Given the description of an element on the screen output the (x, y) to click on. 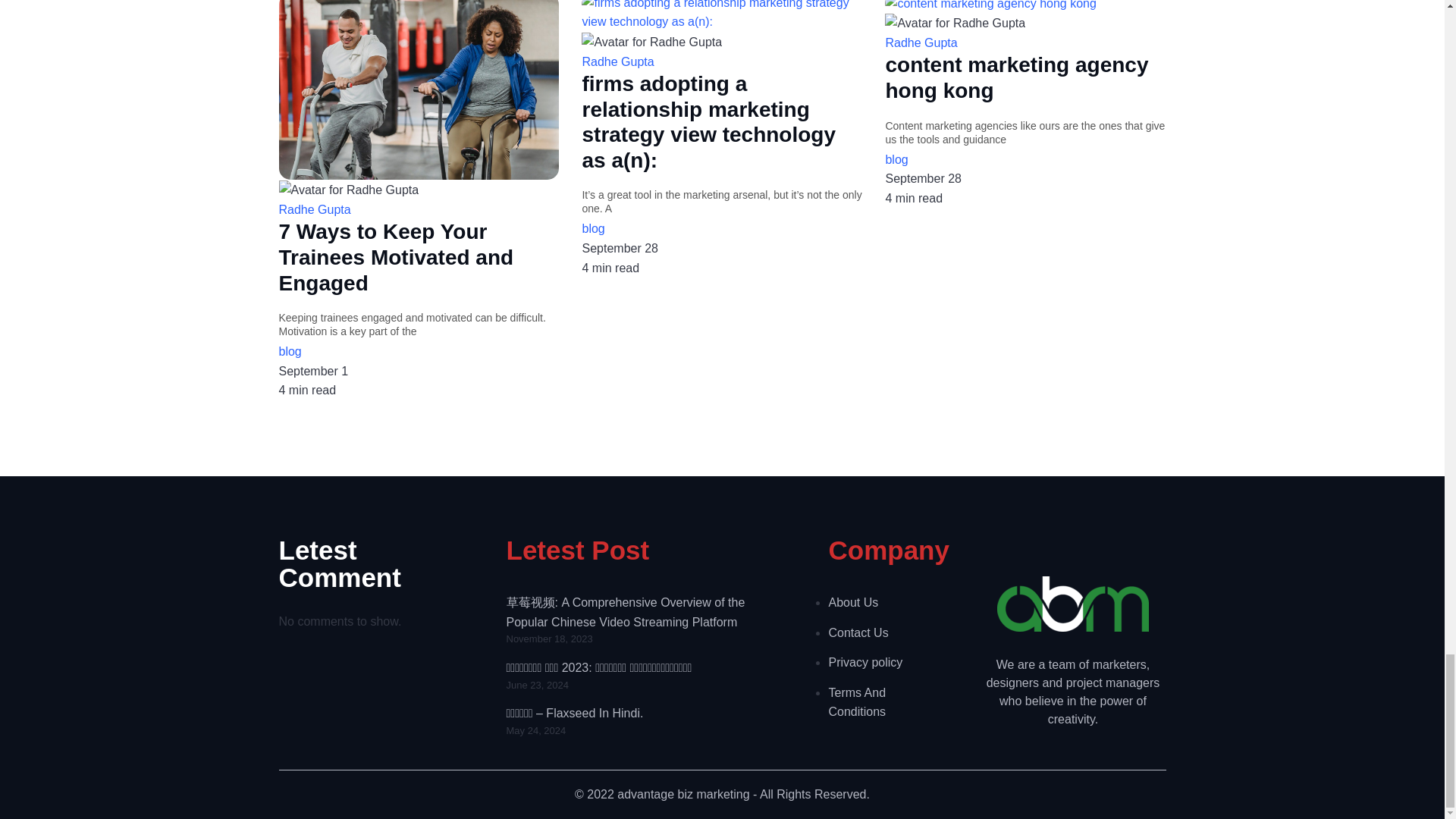
Radhe Gupta (720, 62)
7 Ways to Keep Your Trainees Motivated and Engaged (419, 257)
Radhe Gupta (419, 209)
blog (419, 351)
